Given the description of an element on the screen output the (x, y) to click on. 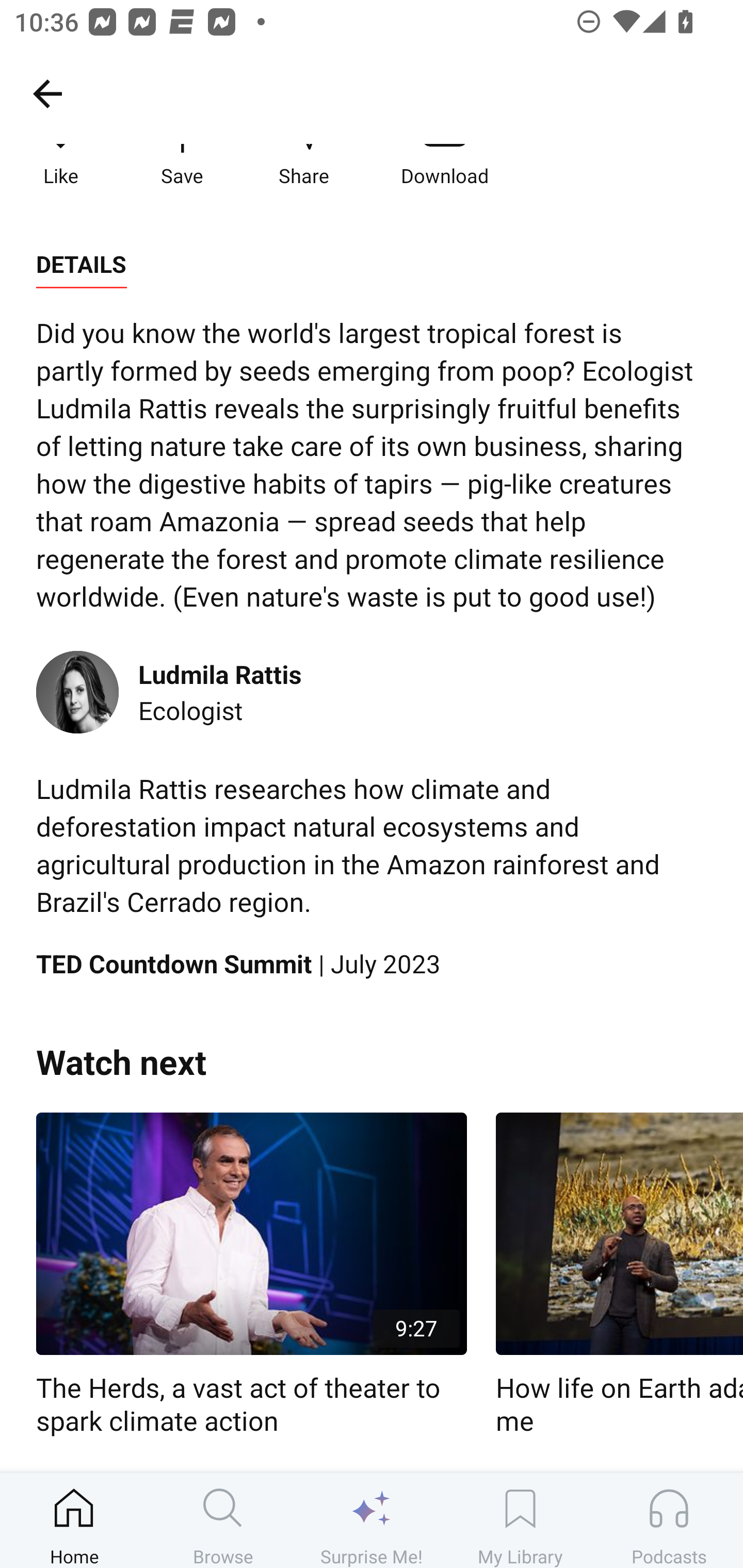
Home, back (47, 92)
Like (60, 166)
Save (181, 166)
Share (302, 166)
Download (444, 166)
DETAILS (80, 264)
How life on Earth adapts to you and me (619, 1275)
Home (74, 1520)
Browse (222, 1520)
Surprise Me! (371, 1520)
My Library (519, 1520)
Podcasts (668, 1520)
